Given the description of an element on the screen output the (x, y) to click on. 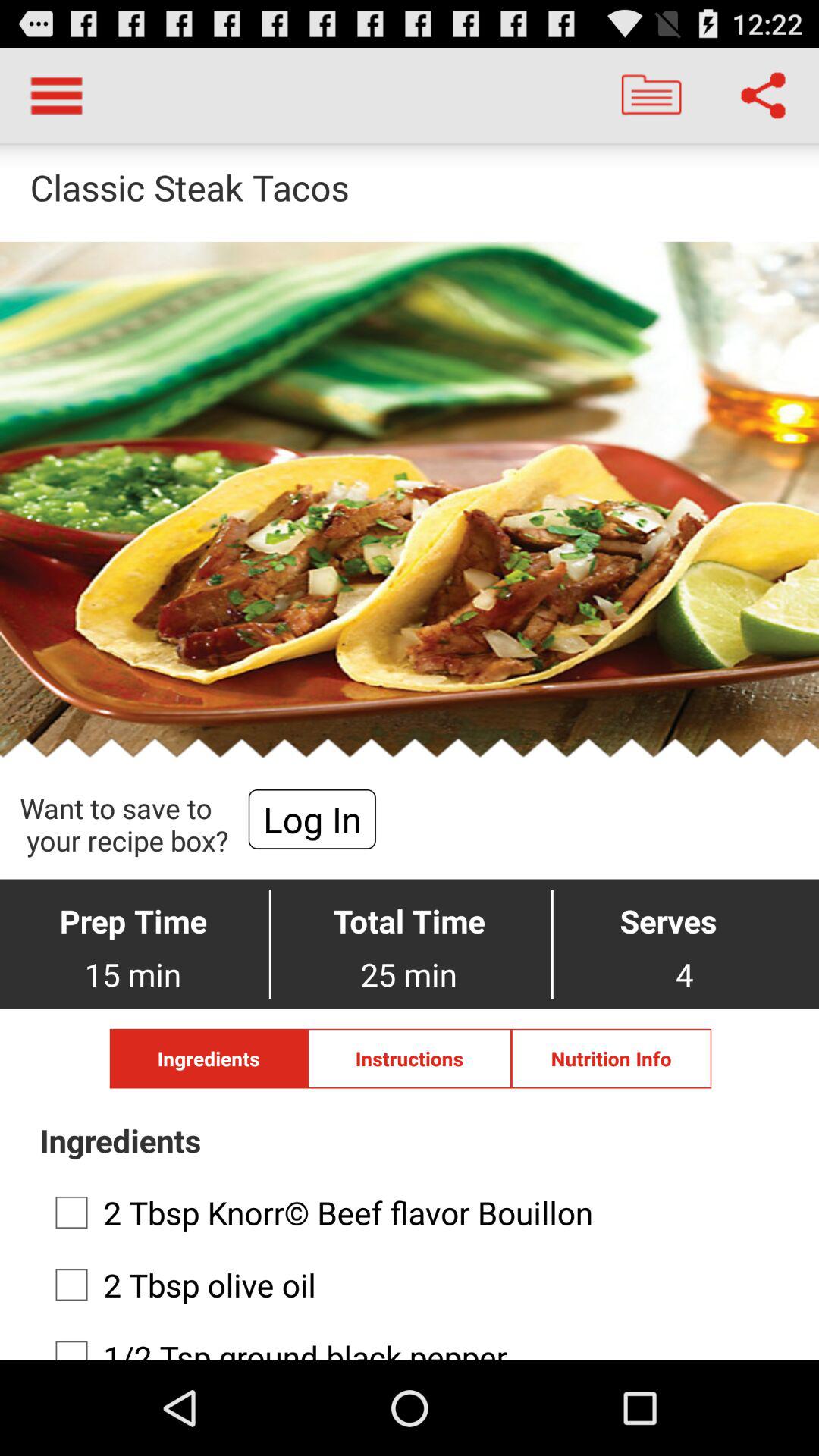
open the icon next to nutrition info (409, 1058)
